Given the description of an element on the screen output the (x, y) to click on. 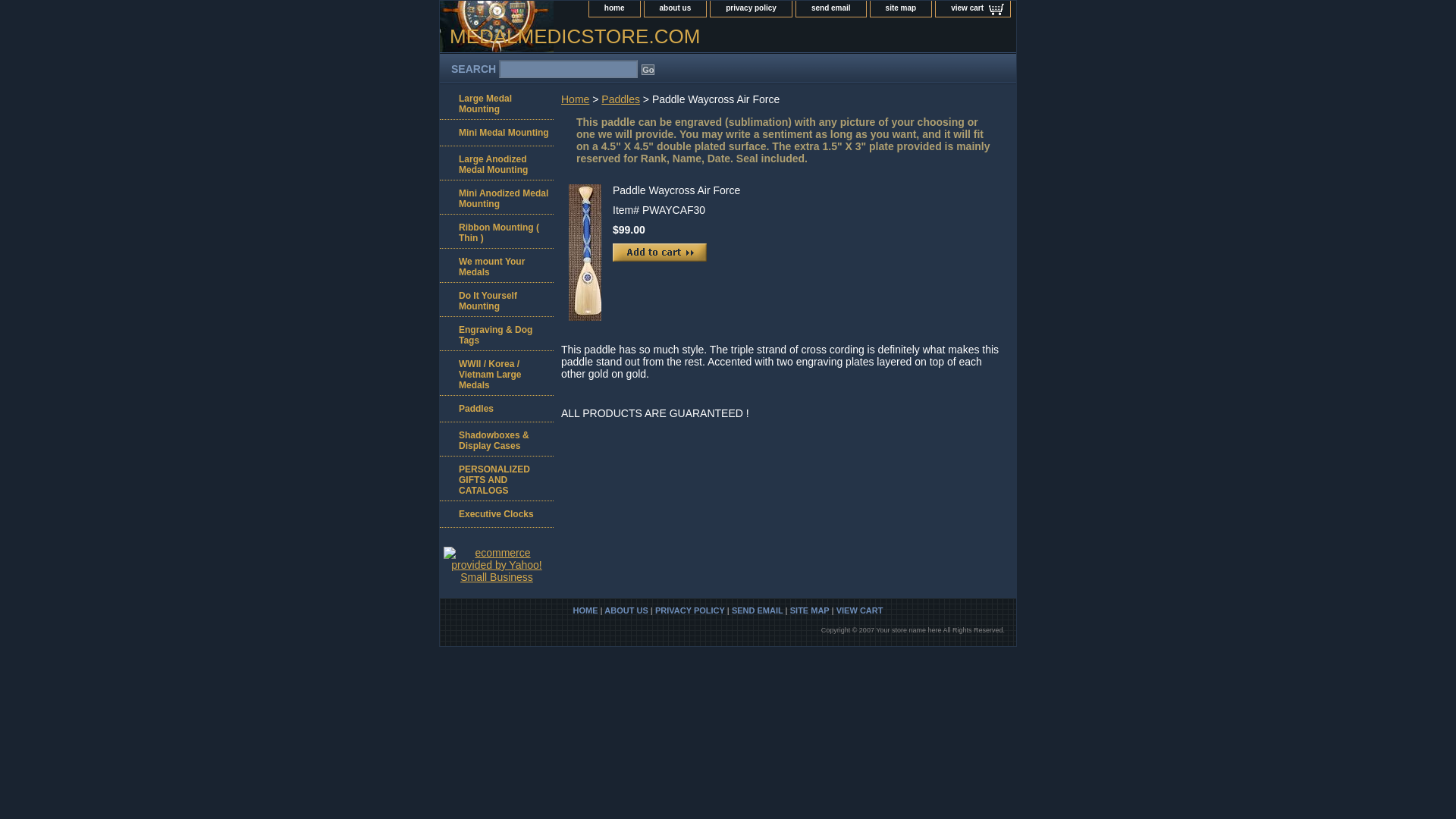
MEDALMEDICSTORE.COM (628, 38)
home (614, 8)
Mini Medal Mounting (496, 132)
Do It Yourself Mounting (496, 299)
Add to cart (659, 252)
Large Anodized  Medal Mounting (496, 163)
PERSONALIZED GIFTS AND CATALOGS (496, 478)
Mini Anodized Medal Mounting (496, 197)
We mount Your Medals (496, 265)
ABOUT US (625, 610)
Home (574, 99)
Do It Yourself Mounting (496, 299)
Paddles (496, 408)
Executive Clocks (496, 514)
Mini Anodized Medal Mounting  (496, 197)
